Given the description of an element on the screen output the (x, y) to click on. 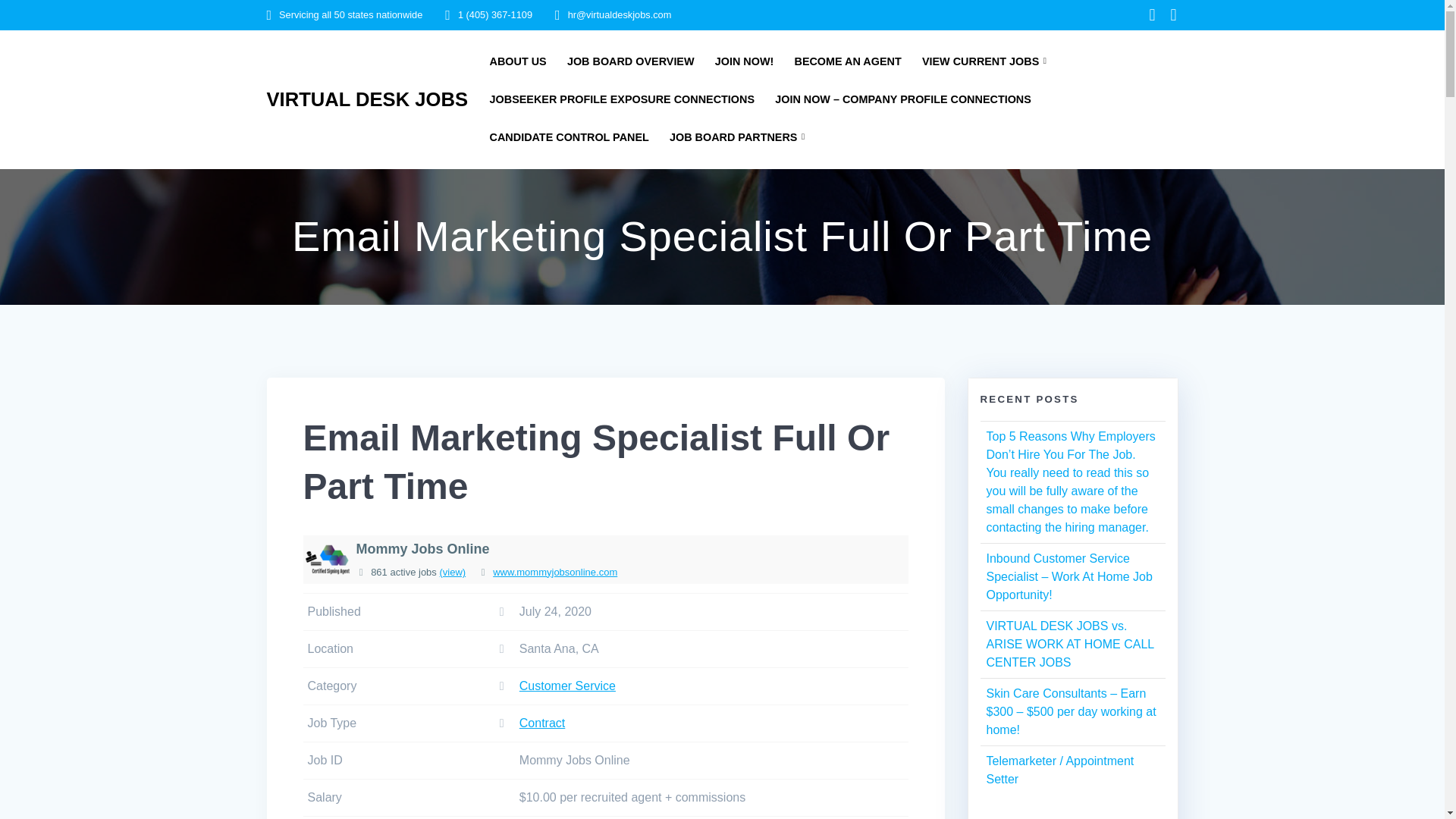
JOBSEEKER PROFILE EXPOSURE CONNECTIONS (621, 99)
JOB BOARD PARTNERS (739, 137)
CANDIDATE CONTROL PANEL (569, 137)
www.mommyjobsonline.com (555, 572)
BECOME AN AGENT (847, 61)
JOB BOARD OVERVIEW (630, 61)
JOIN NOW! (744, 61)
Customer Service (567, 685)
VIEW CURRENT JOBS (986, 61)
Contract (541, 722)
